Given the description of an element on the screen output the (x, y) to click on. 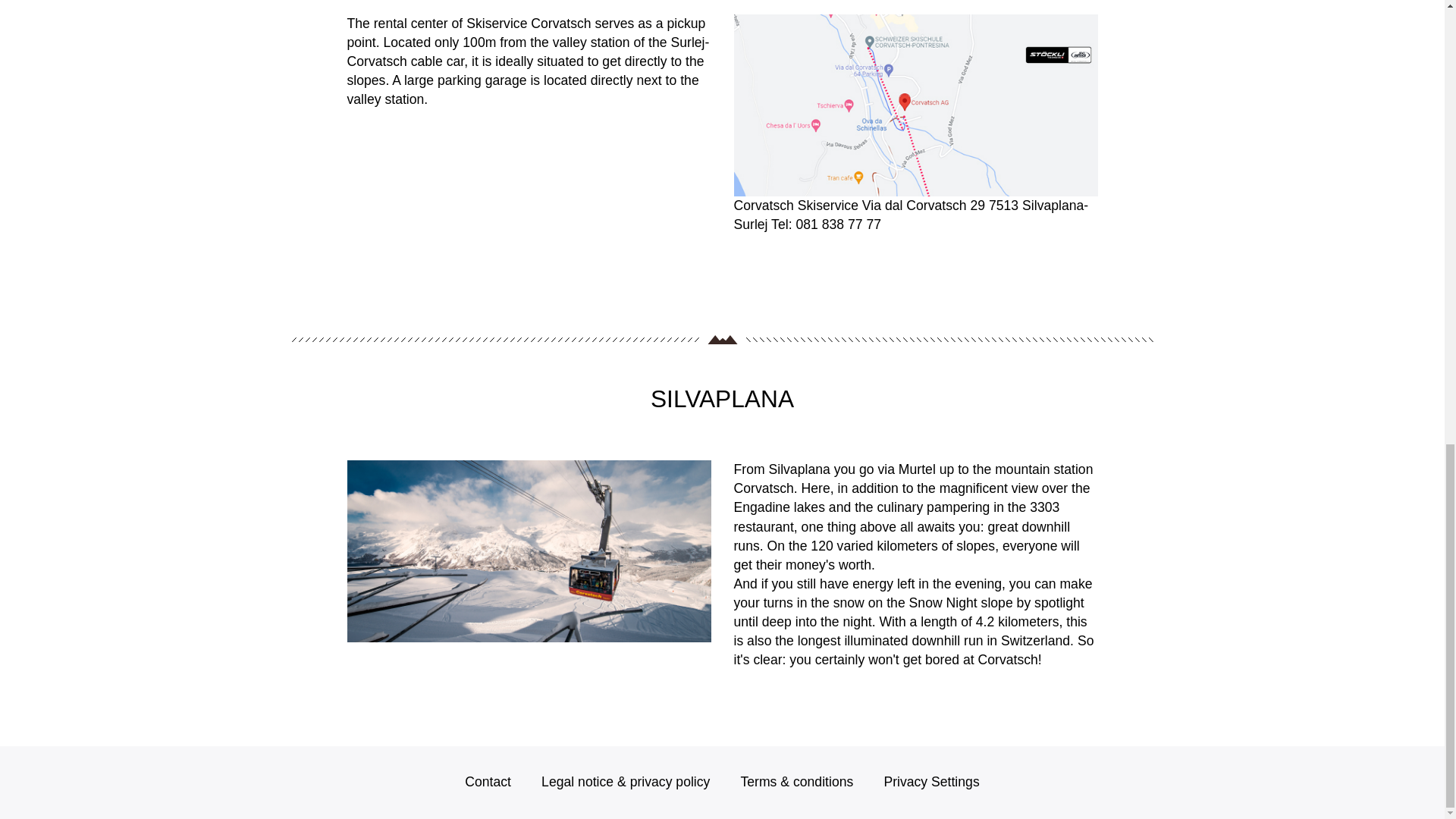
Privacy Settings (930, 781)
Contact (487, 781)
